Given the description of an element on the screen output the (x, y) to click on. 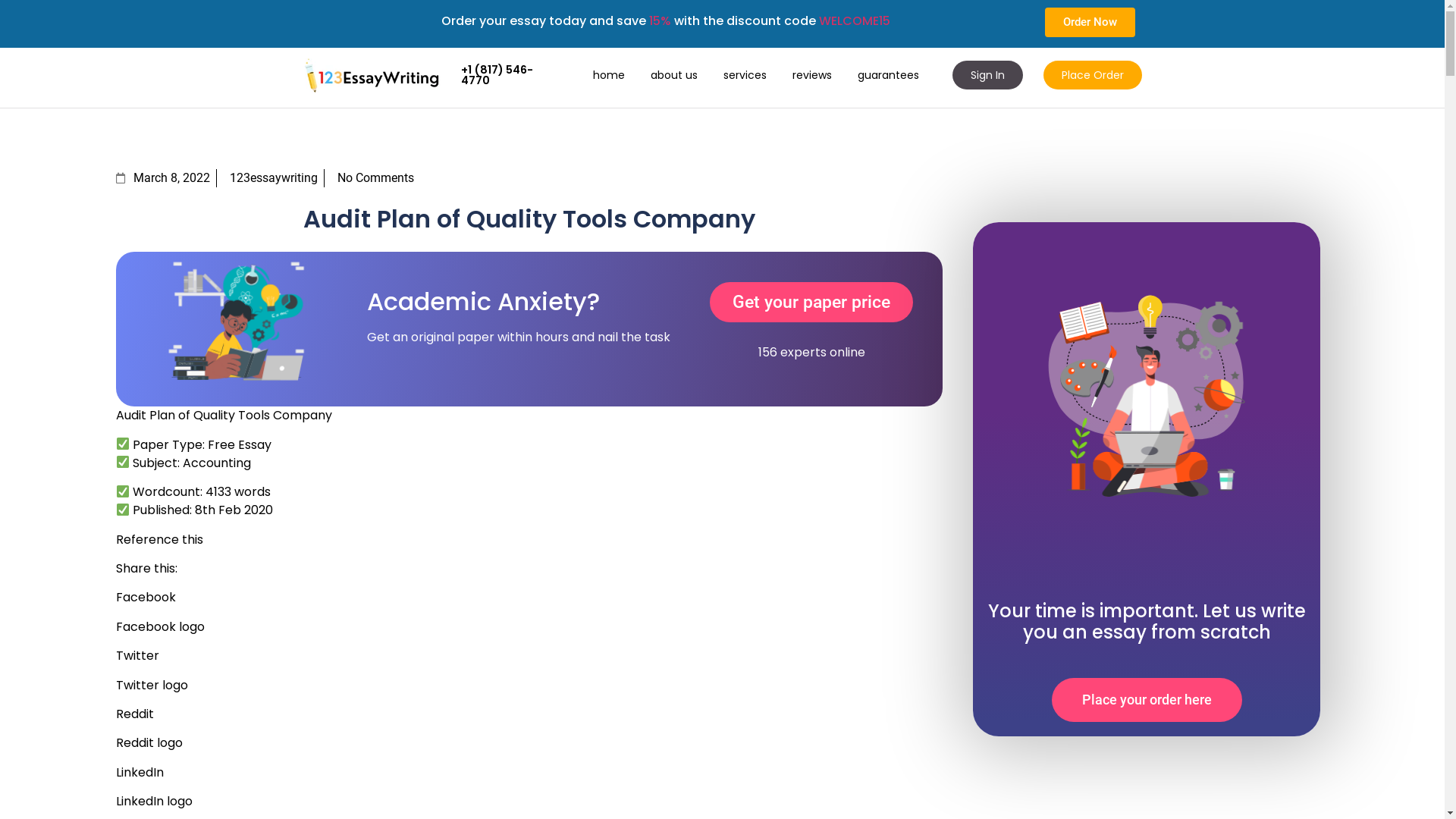
home Element type: text (608, 74)
March 8, 2022 Element type: text (162, 178)
services Element type: text (744, 74)
Sign In Element type: text (987, 74)
Place Order Element type: text (1092, 74)
about us Element type: text (673, 74)
Order Now Element type: text (1089, 22)
reviews Element type: text (811, 74)
Get your paper price Element type: text (811, 302)
15% Element type: text (660, 20)
123essaywriting Element type: text (269, 178)
guarantees Element type: text (887, 74)
No Comments Element type: text (372, 178)
Place your order here Element type: text (1146, 699)
WELCOME15 Element type: text (854, 20)
